Given the description of an element on the screen output the (x, y) to click on. 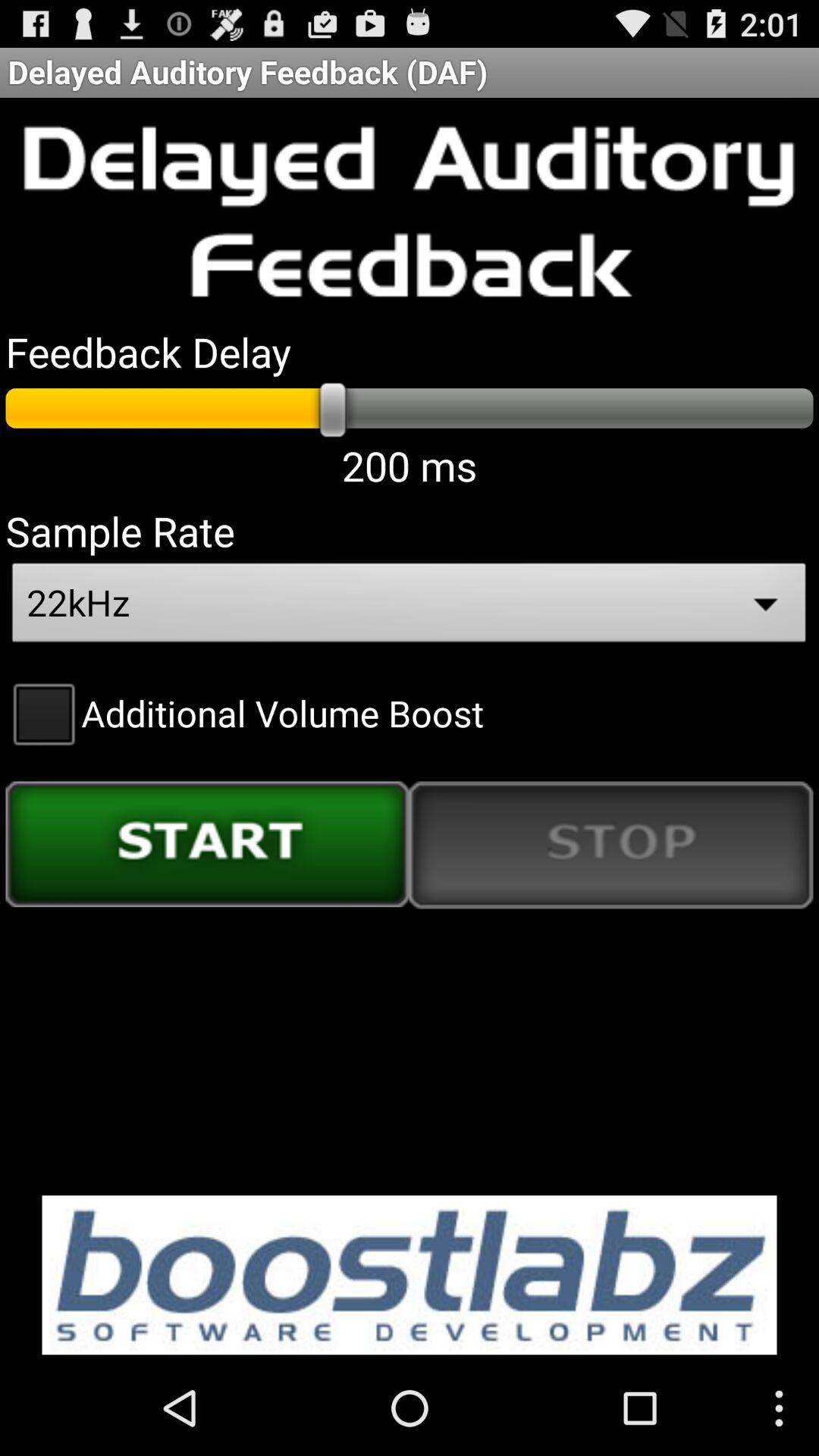
turn on additional volume boost item (244, 712)
